Given the description of an element on the screen output the (x, y) to click on. 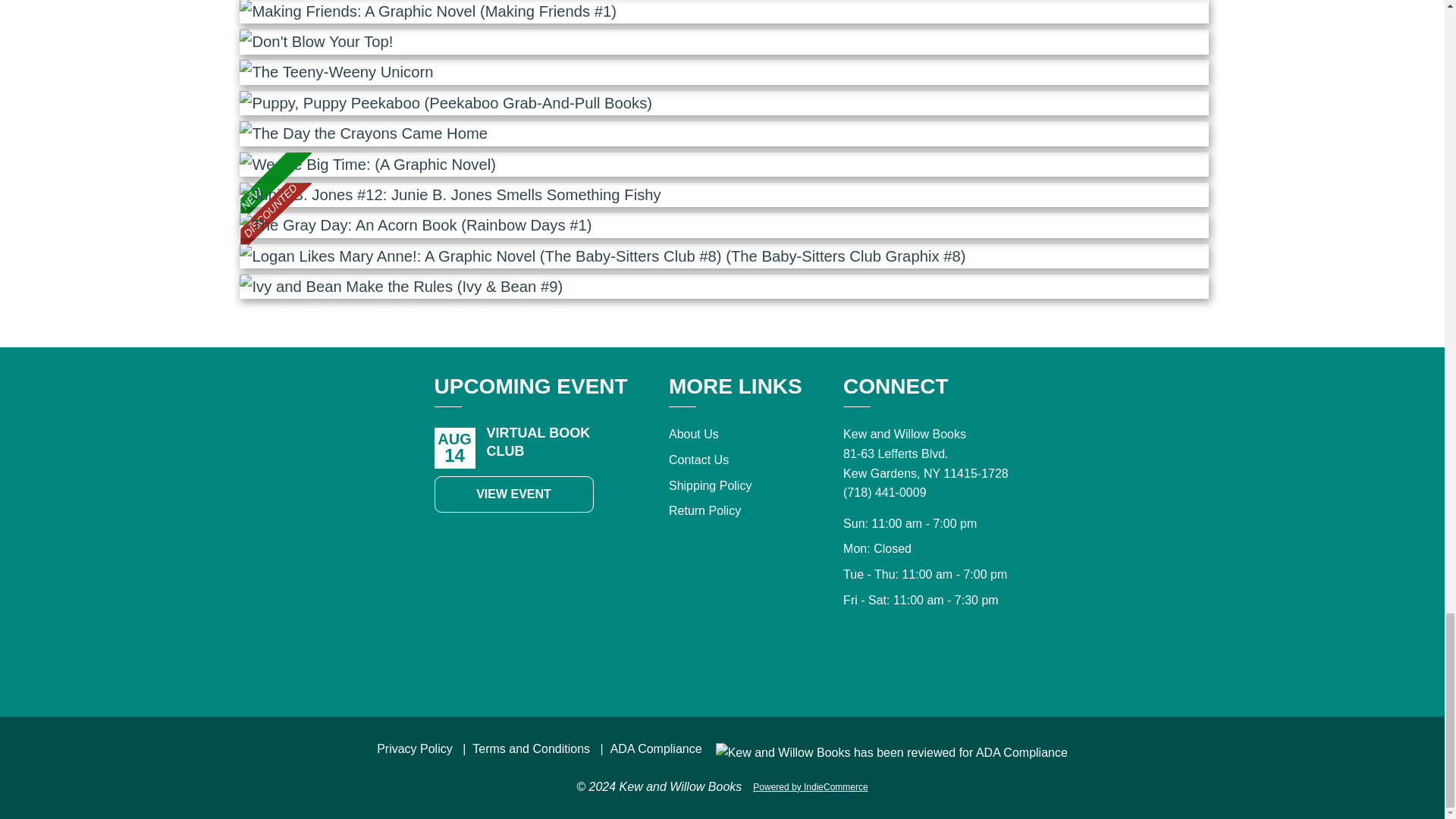
Connect with Instagram (926, 663)
Connect with Facebook (892, 663)
Connect with Twitter (959, 663)
